Given the description of an element on the screen output the (x, y) to click on. 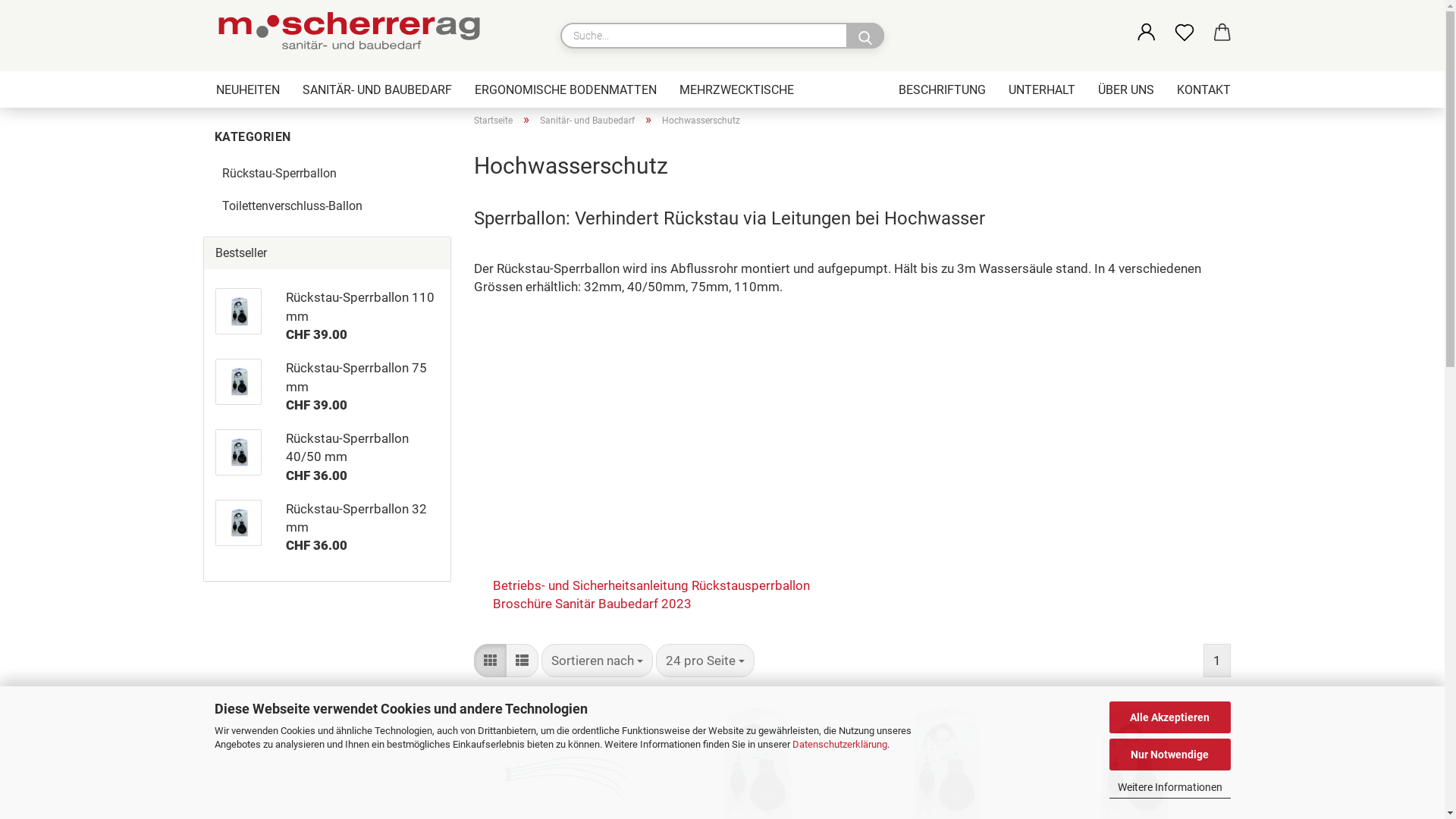
KONTAKT Element type: text (1202, 89)
BESCHRIFTUNG Element type: text (942, 89)
NEUHEITEN Element type: text (247, 89)
ERGONOMISCHE BODENMATTEN Element type: text (564, 89)
Startseite Element type: text (492, 120)
UNTERHALT Element type: text (1040, 89)
Weitere Informationen Element type: text (1169, 787)
MEHRZWECKTISCHE Element type: text (735, 89)
Nur Notwendige Element type: text (1169, 754)
24 pro Seite Element type: text (704, 660)
M. SCHERRER AG Element type: hover (352, 34)
Toilettenverschluss-Ballon Element type: text (326, 206)
Alle Akzeptieren Element type: text (1169, 716)
Sortieren nach Element type: text (596, 660)
